Given the description of an element on the screen output the (x, y) to click on. 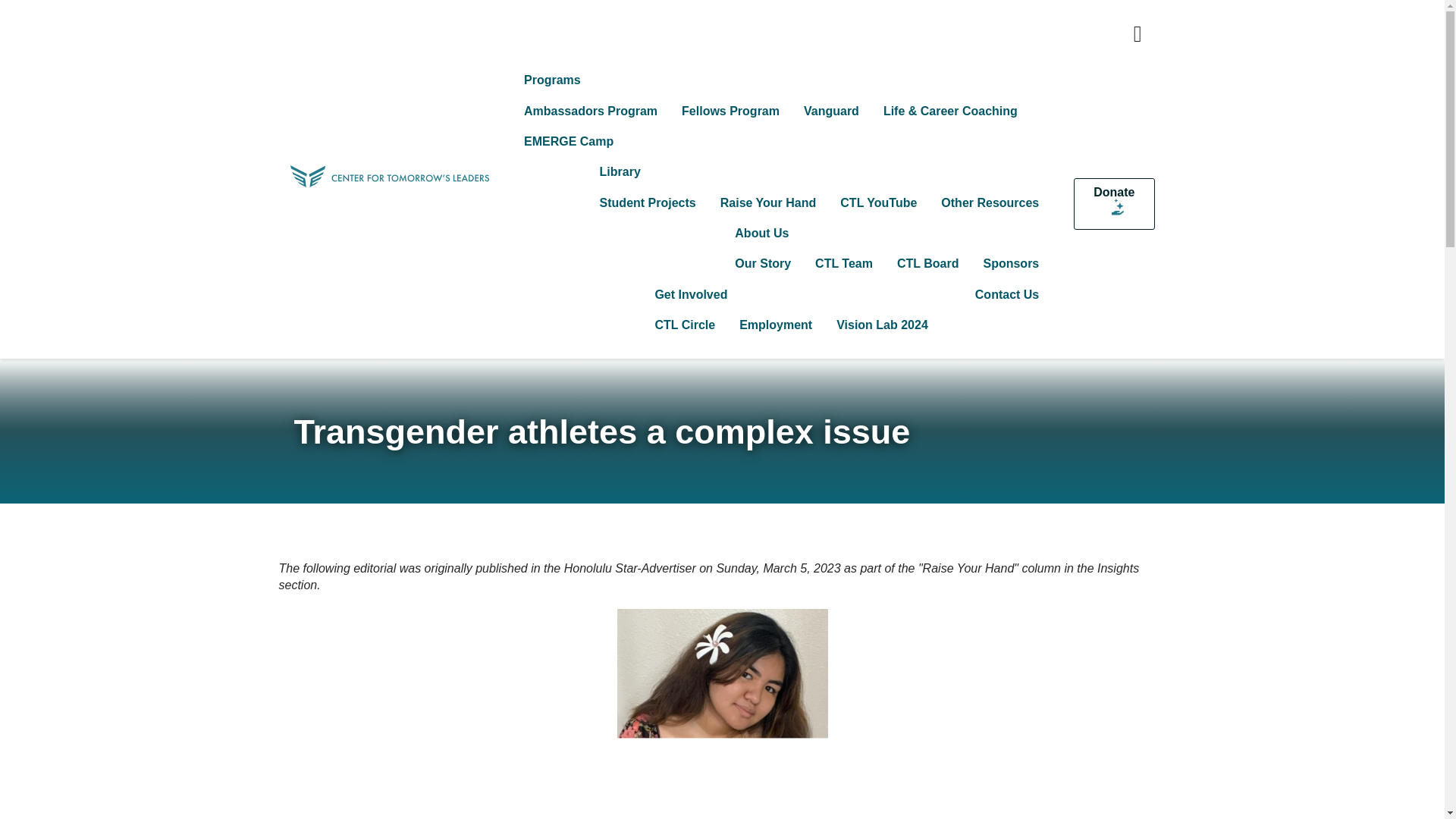
CTL Board (928, 264)
Programs (781, 81)
Library (819, 173)
Sponsors (1011, 264)
CTL YouTube (878, 203)
Vanguard (831, 111)
CTL Team (844, 264)
Raise Your Hand (767, 203)
EMERGE Camp (569, 142)
Ambassadors Program (590, 111)
